Given the description of an element on the screen output the (x, y) to click on. 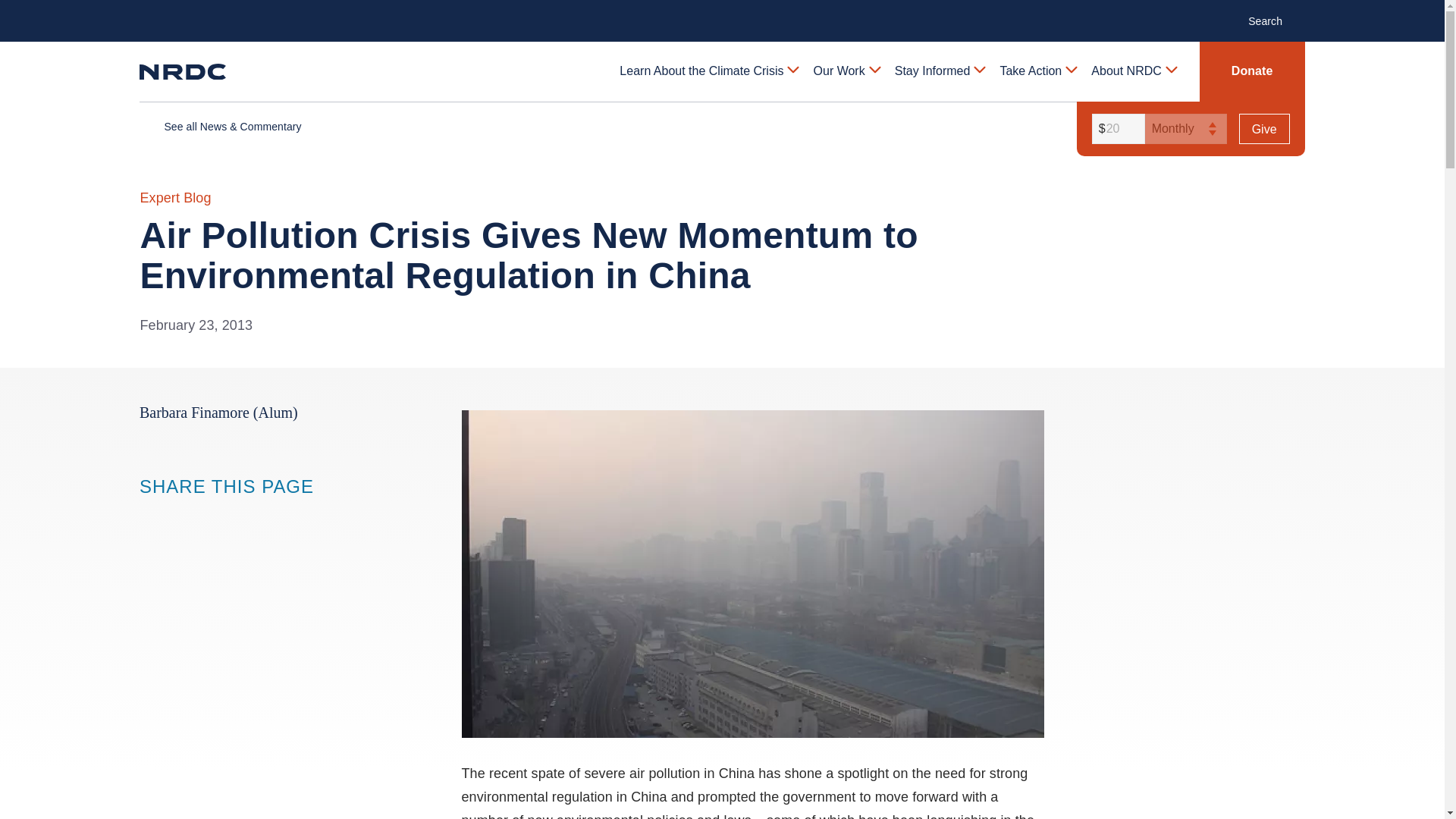
20 (1116, 128)
Search (1272, 19)
Learn About the Climate Crisis (707, 71)
Take Action (1036, 71)
Share this page block (149, 515)
Stay Informed (939, 71)
Skip to main content (721, 12)
Share this page block (210, 515)
Our Work (846, 71)
Share this page block (180, 515)
